Given the description of an element on the screen output the (x, y) to click on. 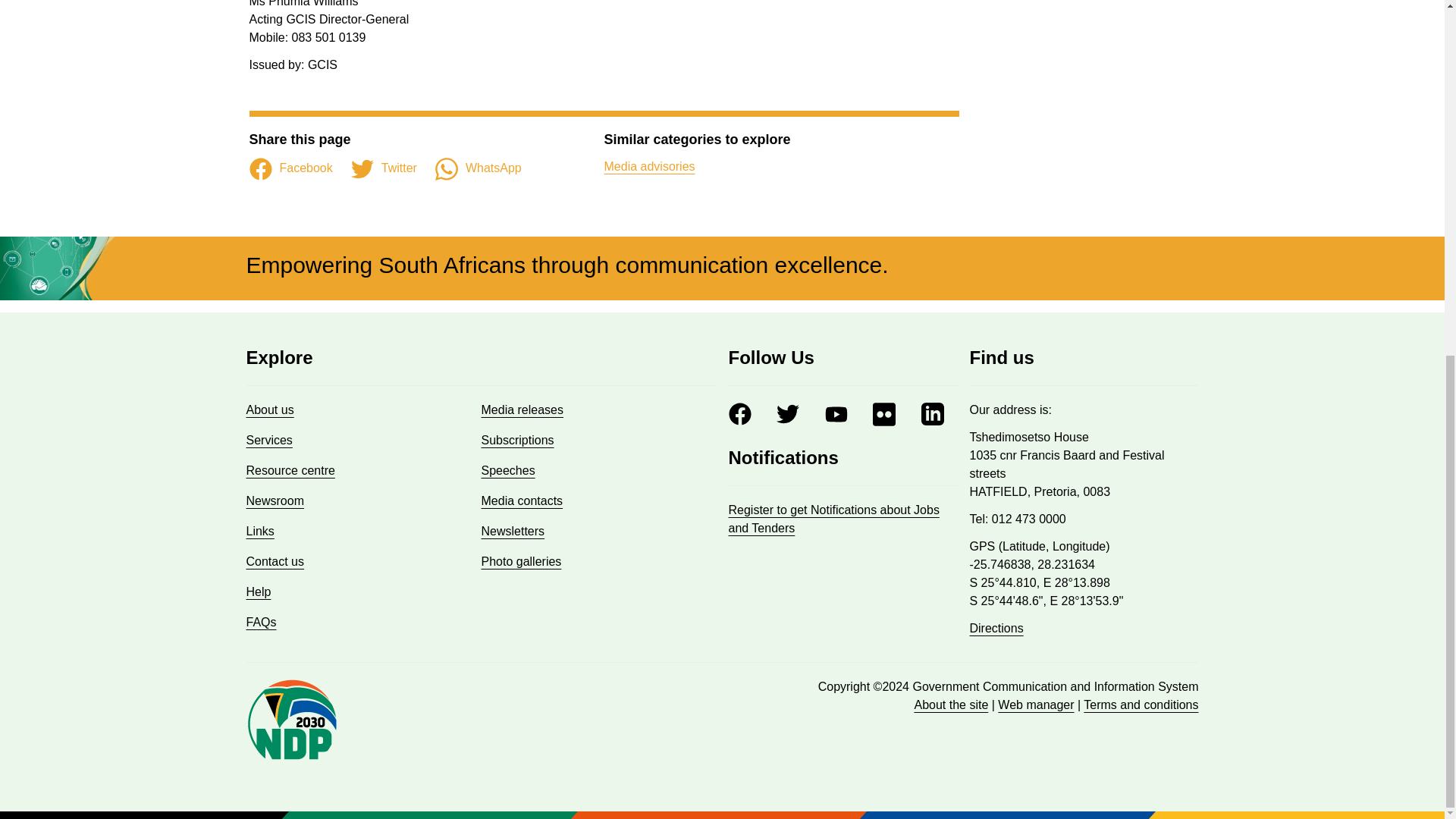
Services (269, 440)
Media releases (521, 410)
About us (270, 410)
Media contacts (521, 501)
Speeches (507, 470)
Links (259, 531)
Facebook (289, 169)
WhatsApp (478, 168)
Share on Facebook (289, 169)
Newsroom (274, 501)
